Given the description of an element on the screen output the (x, y) to click on. 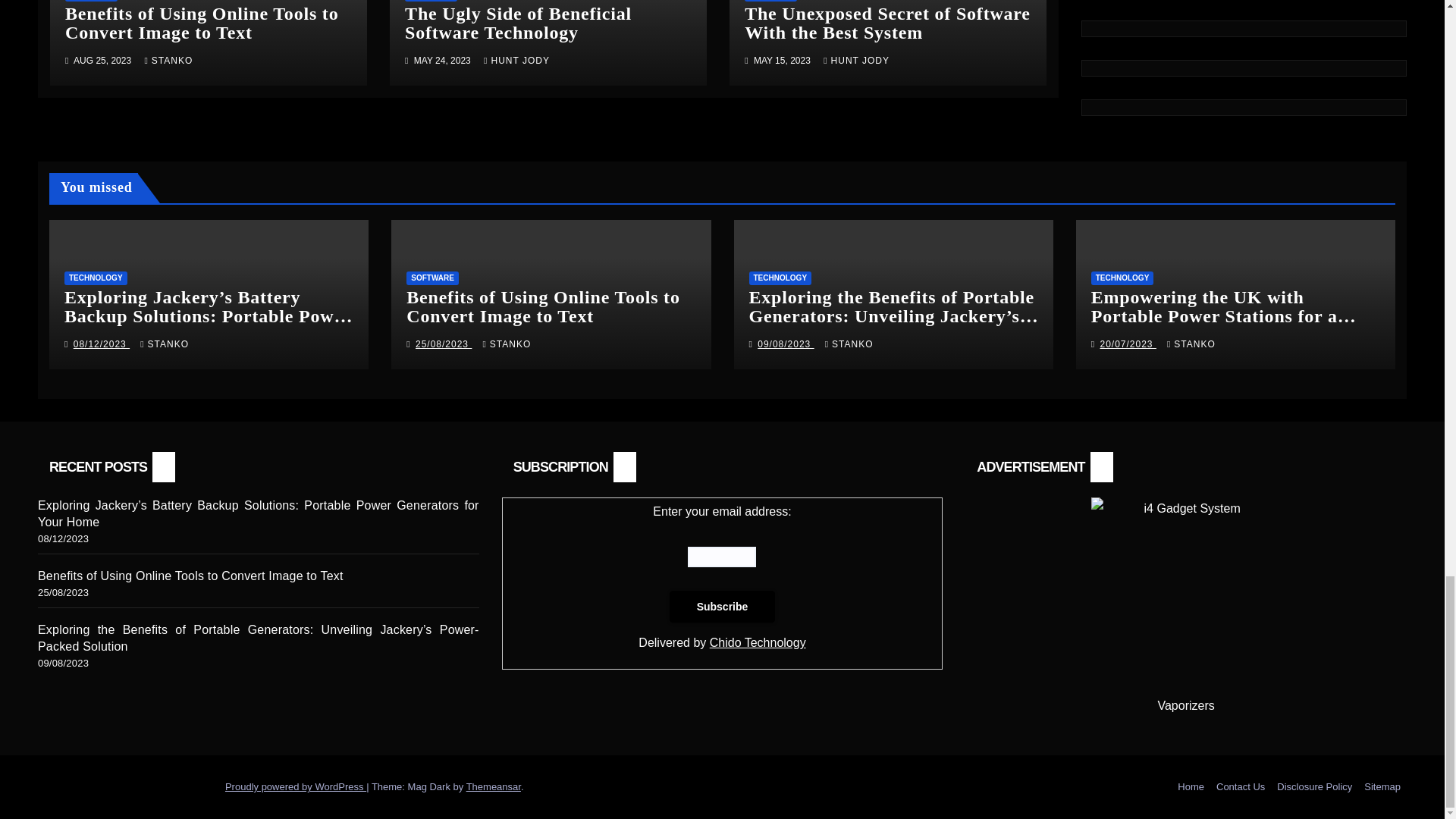
STANKO (168, 60)
Benefits of Using Online Tools to Convert Image to Text (201, 23)
SOFTWARE (91, 0)
SOFTWARE (430, 0)
The Ugly Side of Beneficial Software Technology (517, 23)
Subscribe (722, 606)
